Given the description of an element on the screen output the (x, y) to click on. 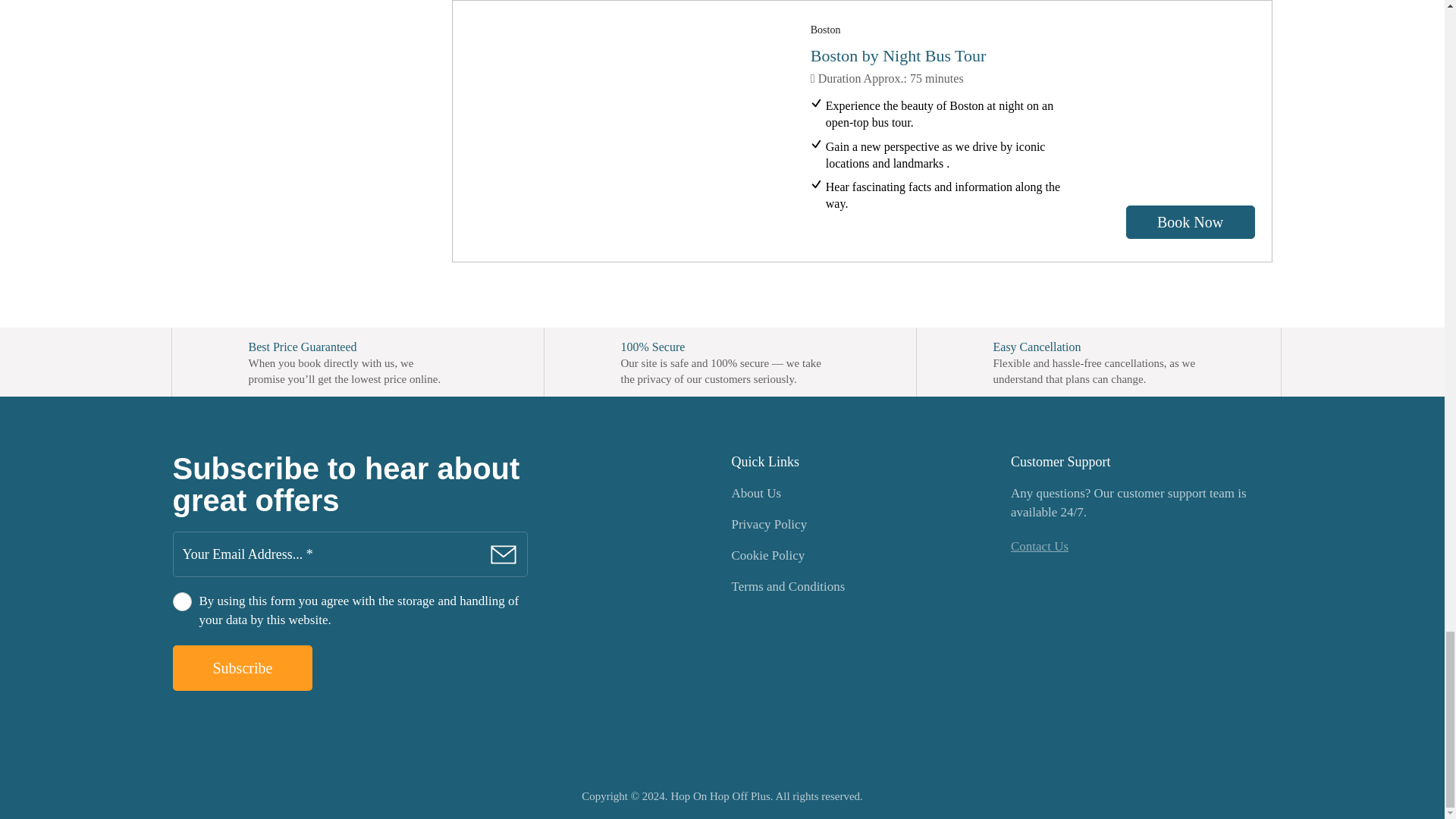
Subscribe (243, 668)
